Given the description of an element on the screen output the (x, y) to click on. 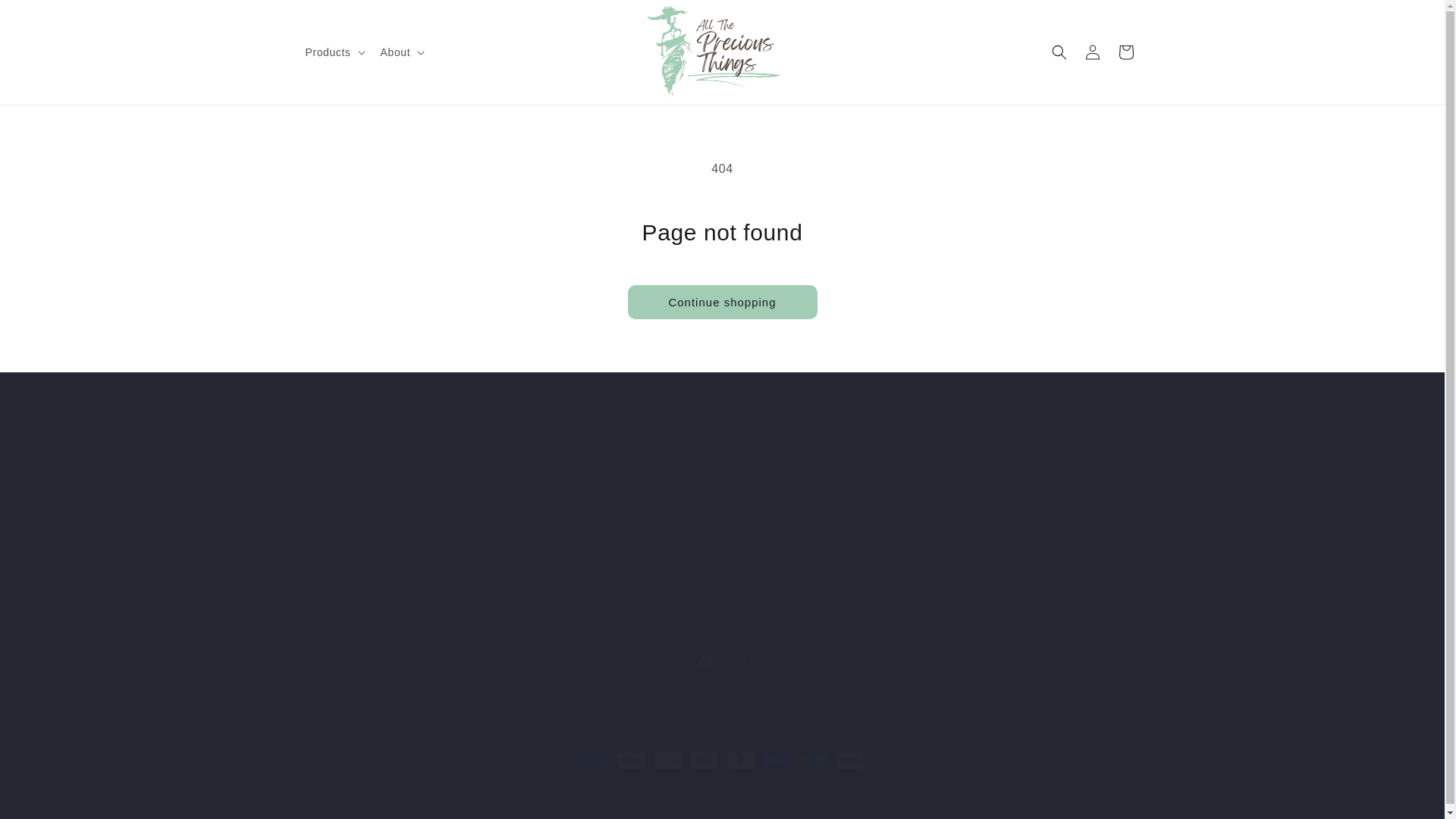
Skip to content (94, 16)
